Given the description of an element on the screen output the (x, y) to click on. 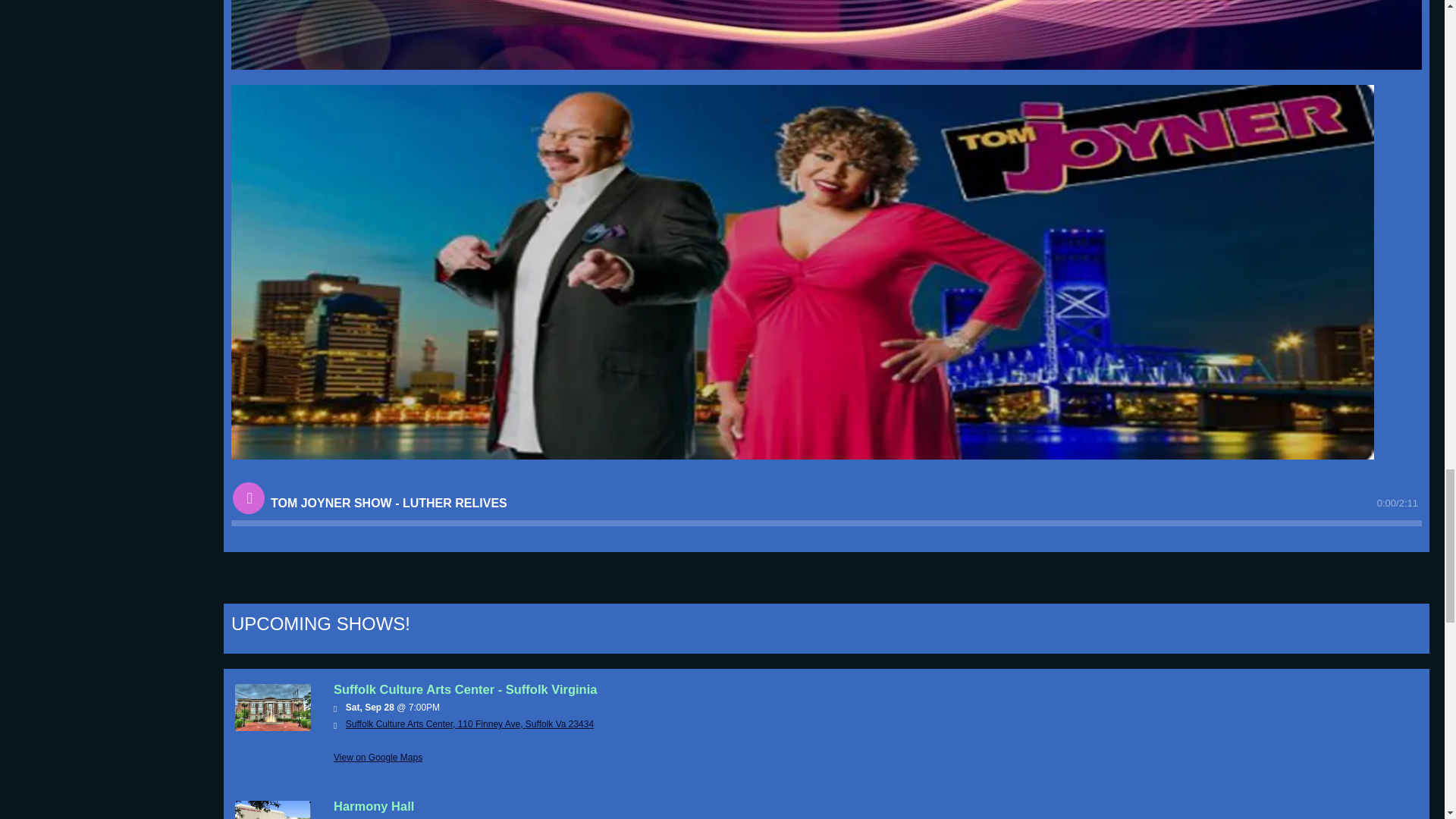
View on Google Maps (470, 724)
View on Google Maps (377, 757)
Suffolk Culture Arts Center - Suffolk Virginia  (272, 726)
